Given the description of an element on the screen output the (x, y) to click on. 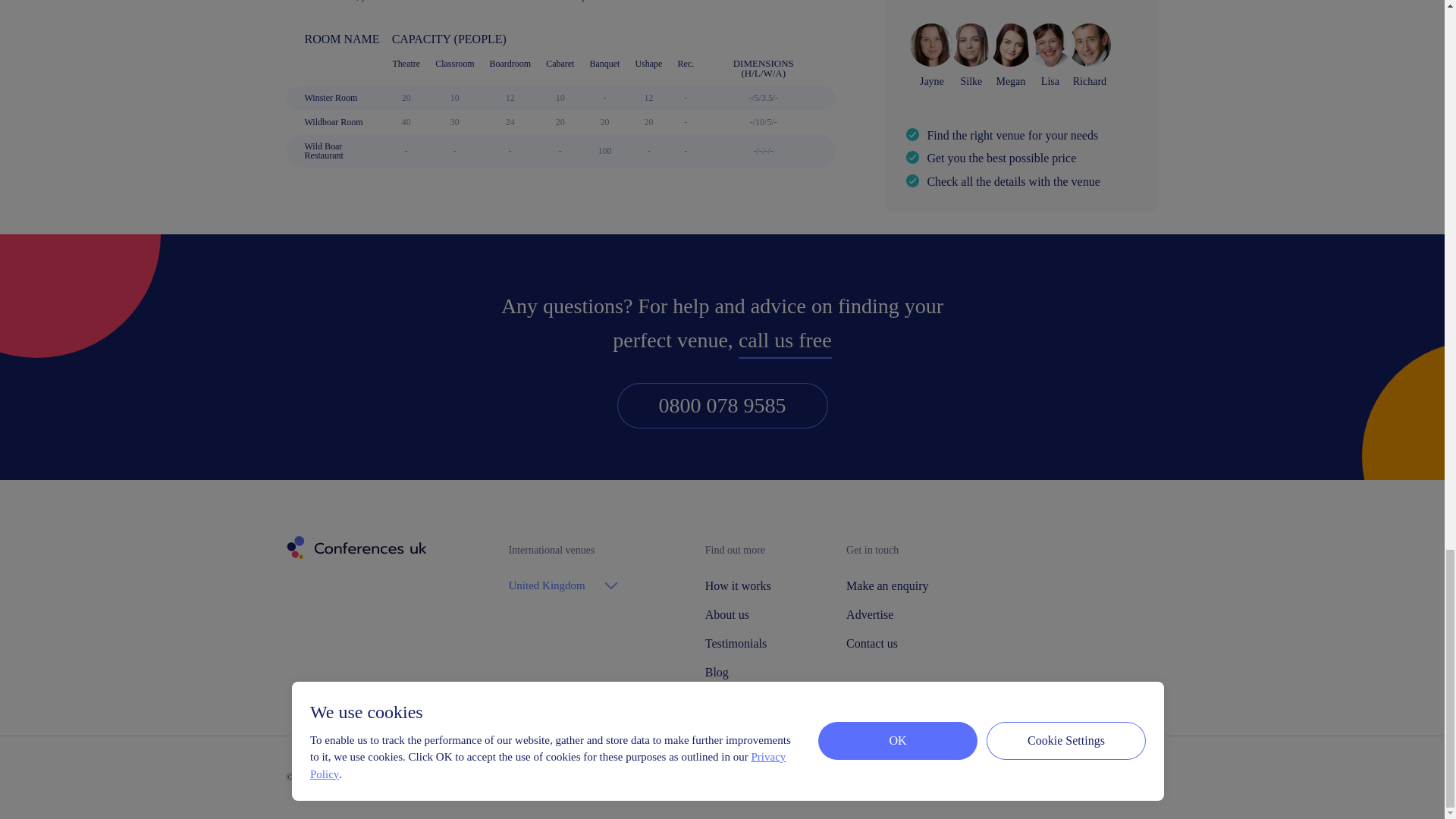
Sitemap (571, 777)
Terms and Conditions (501, 777)
0800 078 9585 (722, 405)
Testimonials (738, 643)
Conferences UK (354, 547)
About us (738, 614)
Find us on LinkedIn (1150, 777)
Blog (738, 672)
Find us on YouTube (1114, 777)
Contact us (887, 643)
